Given the description of an element on the screen output the (x, y) to click on. 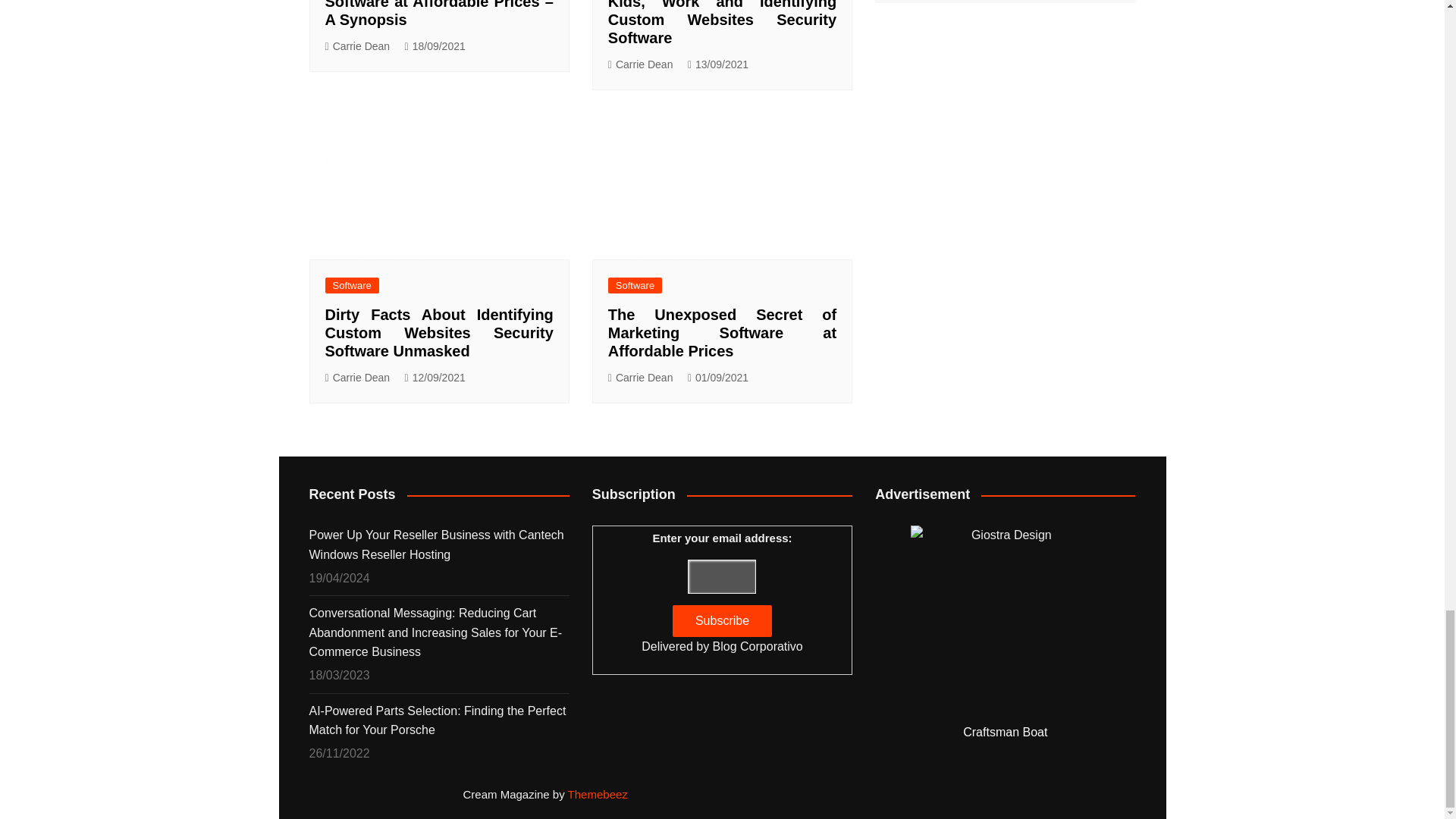
Giostra Design (1005, 619)
Subscribe (721, 621)
Carrie Dean (357, 46)
